Given the description of an element on the screen output the (x, y) to click on. 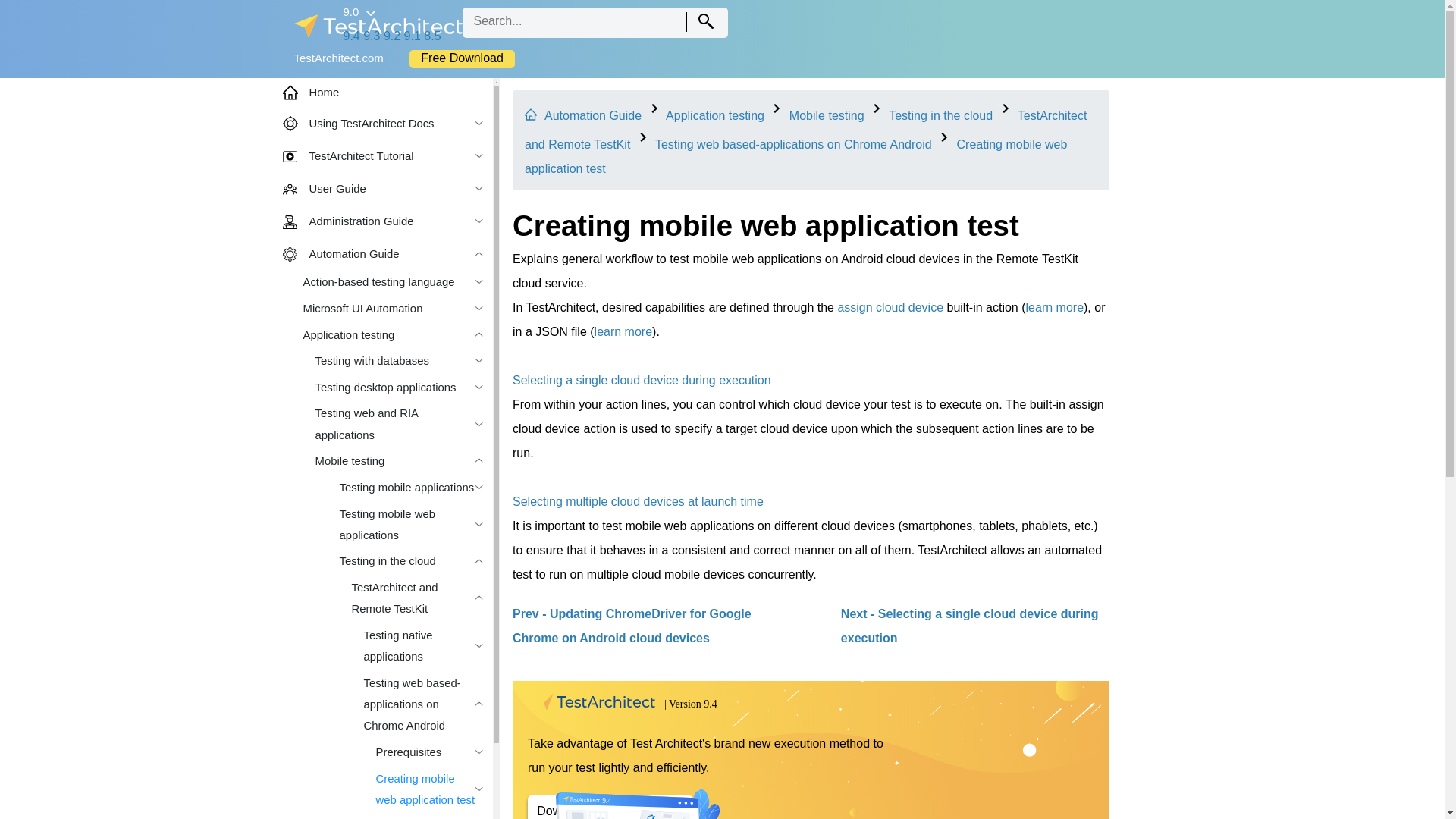
8.5 (432, 35)
9.1 (412, 35)
9.2 (392, 35)
9.0 (358, 11)
9.3 (371, 35)
TestArchitect.com (339, 57)
Automation Guide (593, 115)
9.4 (350, 35)
Free Download (462, 58)
